Given the description of an element on the screen output the (x, y) to click on. 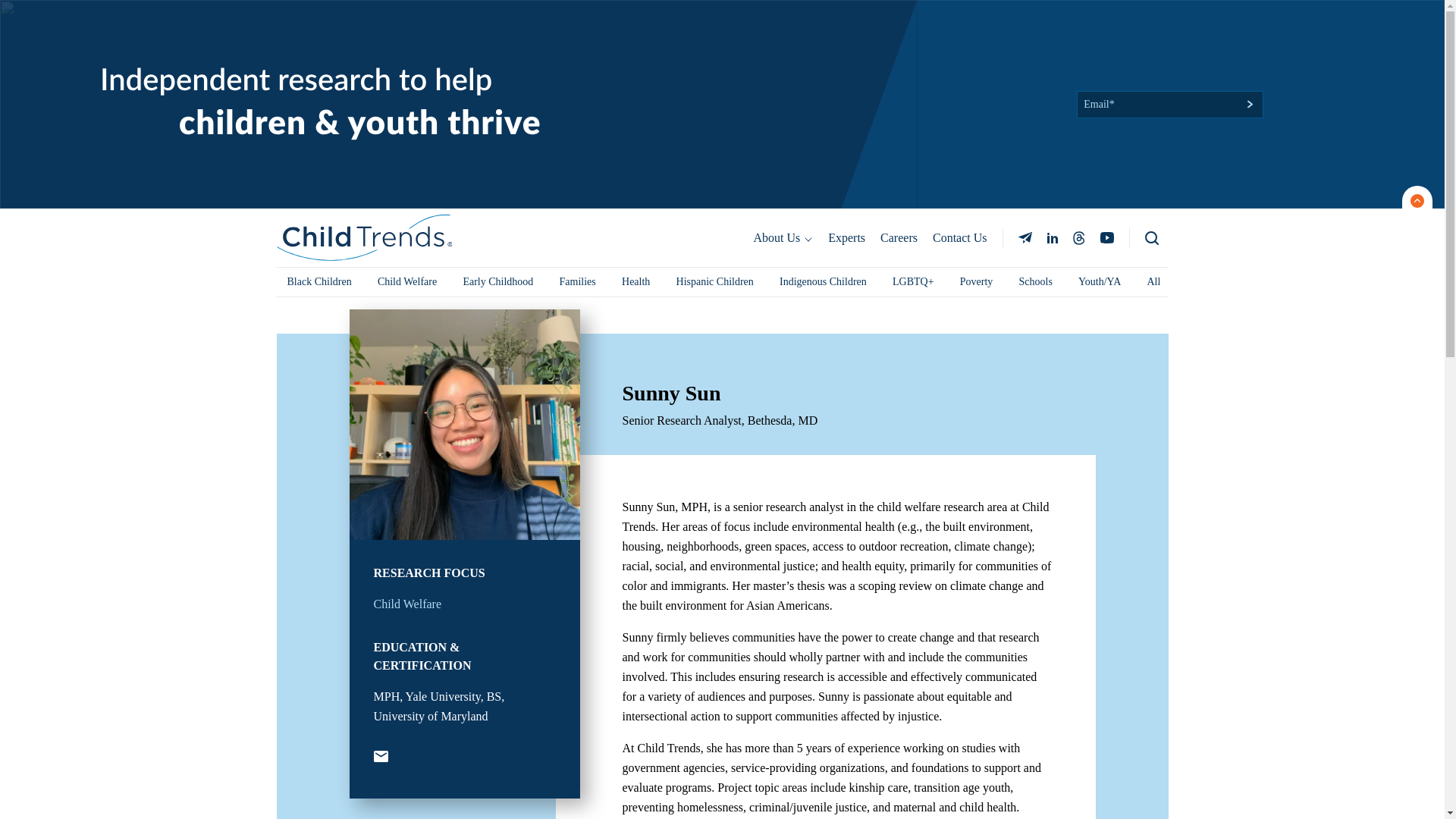
Families (577, 72)
All (1152, 72)
Poverty (976, 72)
Hispanic Children (714, 72)
Schools (1035, 72)
Indigenous Children (823, 72)
Child Welfare (406, 395)
Health (636, 72)
ChildTrends (363, 29)
YouTube (379, 549)
Child Welfare (406, 72)
Black Children (318, 72)
Early Childhood (497, 72)
